Given the description of an element on the screen output the (x, y) to click on. 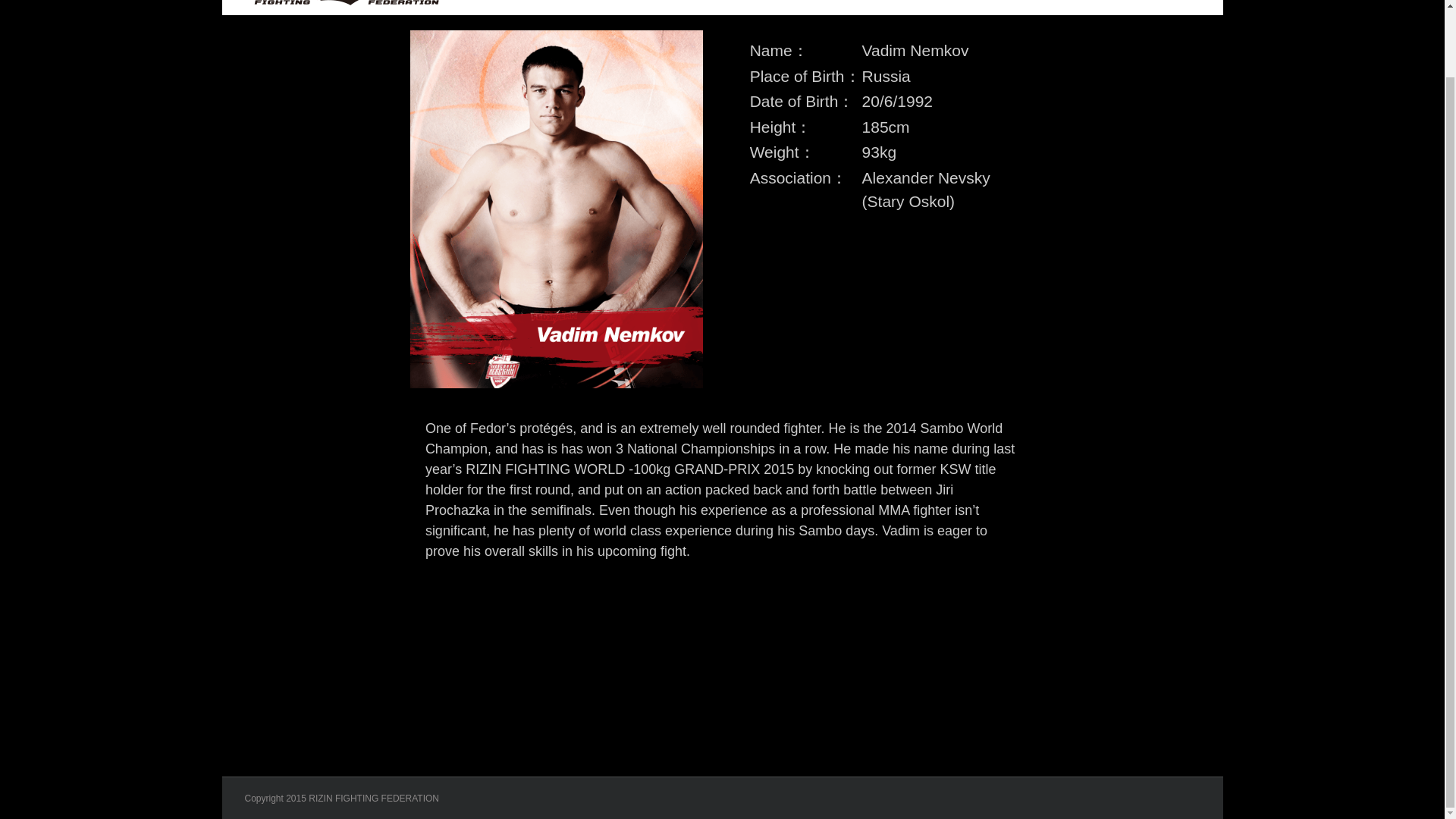
Ticket (995, 4)
Fight Card (920, 4)
Interview (1032, 4)
Contact Form (1171, 4)
Event Summary (859, 4)
online shop (1113, 4)
Result (962, 4)
Concept (803, 4)
Movie (1070, 4)
